Given the description of an element on the screen output the (x, y) to click on. 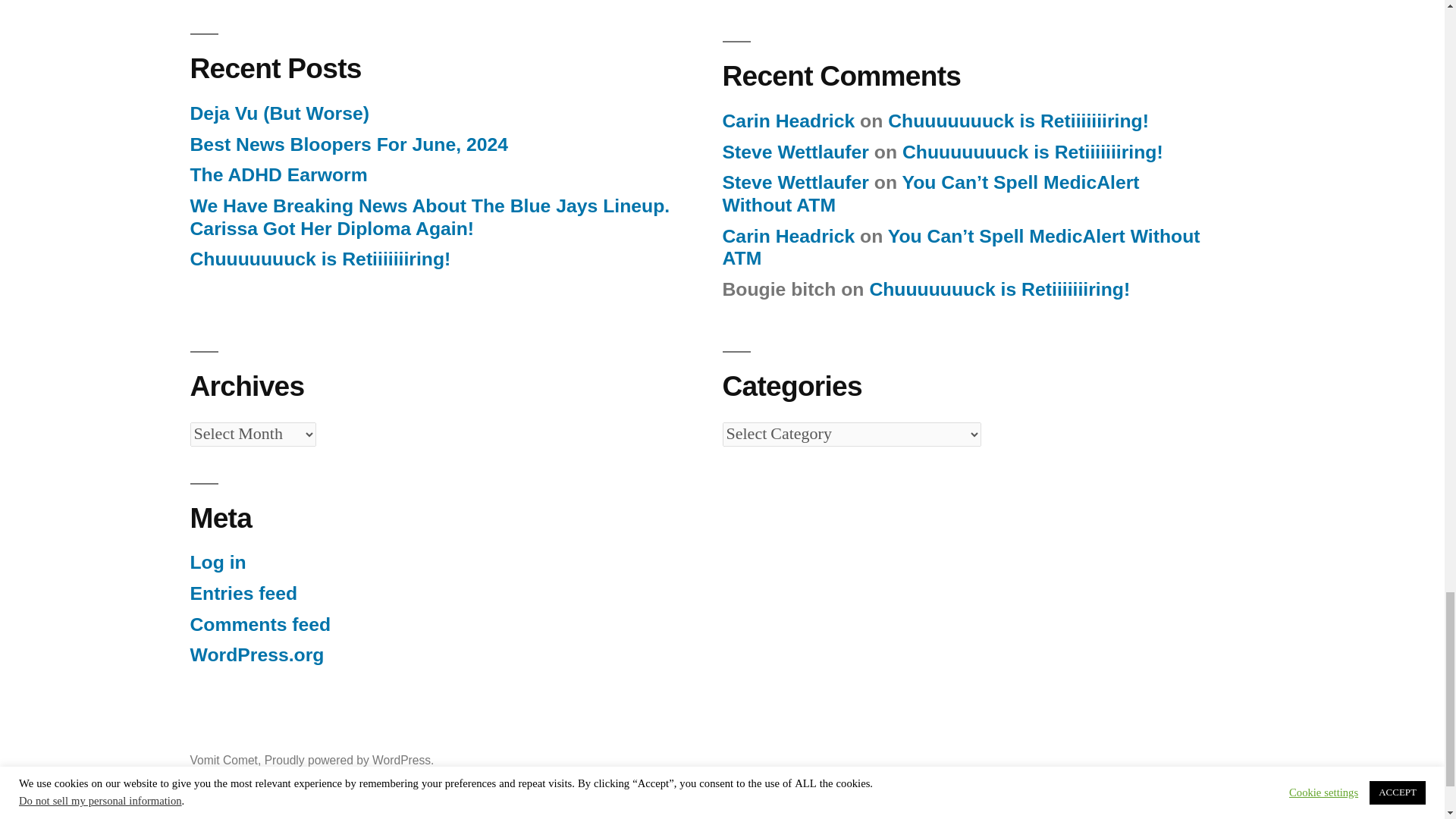
The ADHD Earworm (277, 174)
Carin Headrick (788, 120)
Chuuuuuuuck is Retiiiiiiiring! (1018, 120)
Best News Bloopers For June, 2024 (348, 143)
Chuuuuuuuck is Retiiiiiiiring! (319, 258)
